Given the description of an element on the screen output the (x, y) to click on. 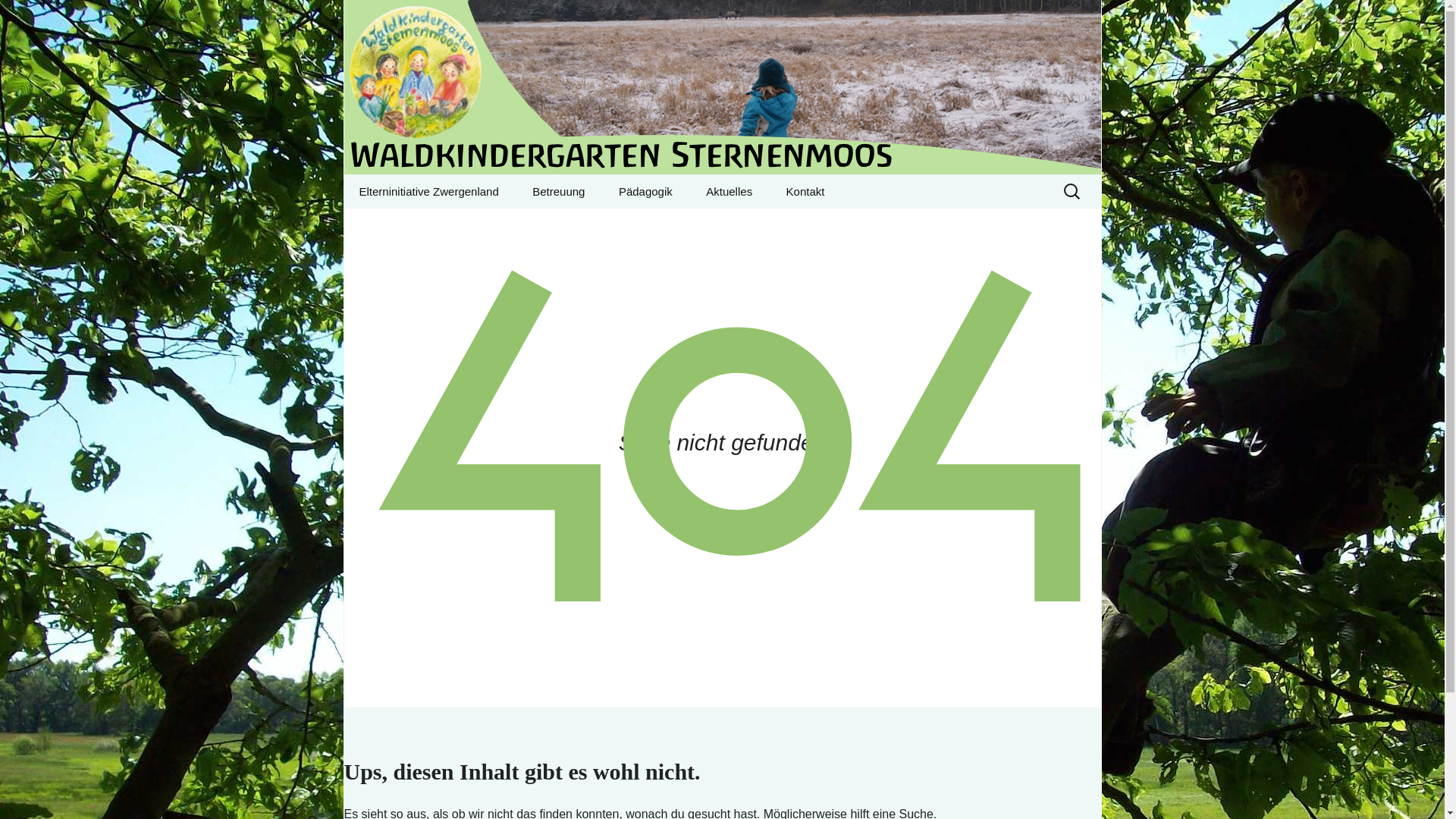
Aktuelles (728, 191)
Suche (34, 15)
Betreuung (557, 191)
Elterninitiative Zwergenland (428, 191)
Der Verein (419, 225)
Das Team (592, 225)
Pressemitteilungen (766, 225)
Suche (18, 15)
Grundlagen (721, 87)
Kontakt (679, 225)
